Given the description of an element on the screen output the (x, y) to click on. 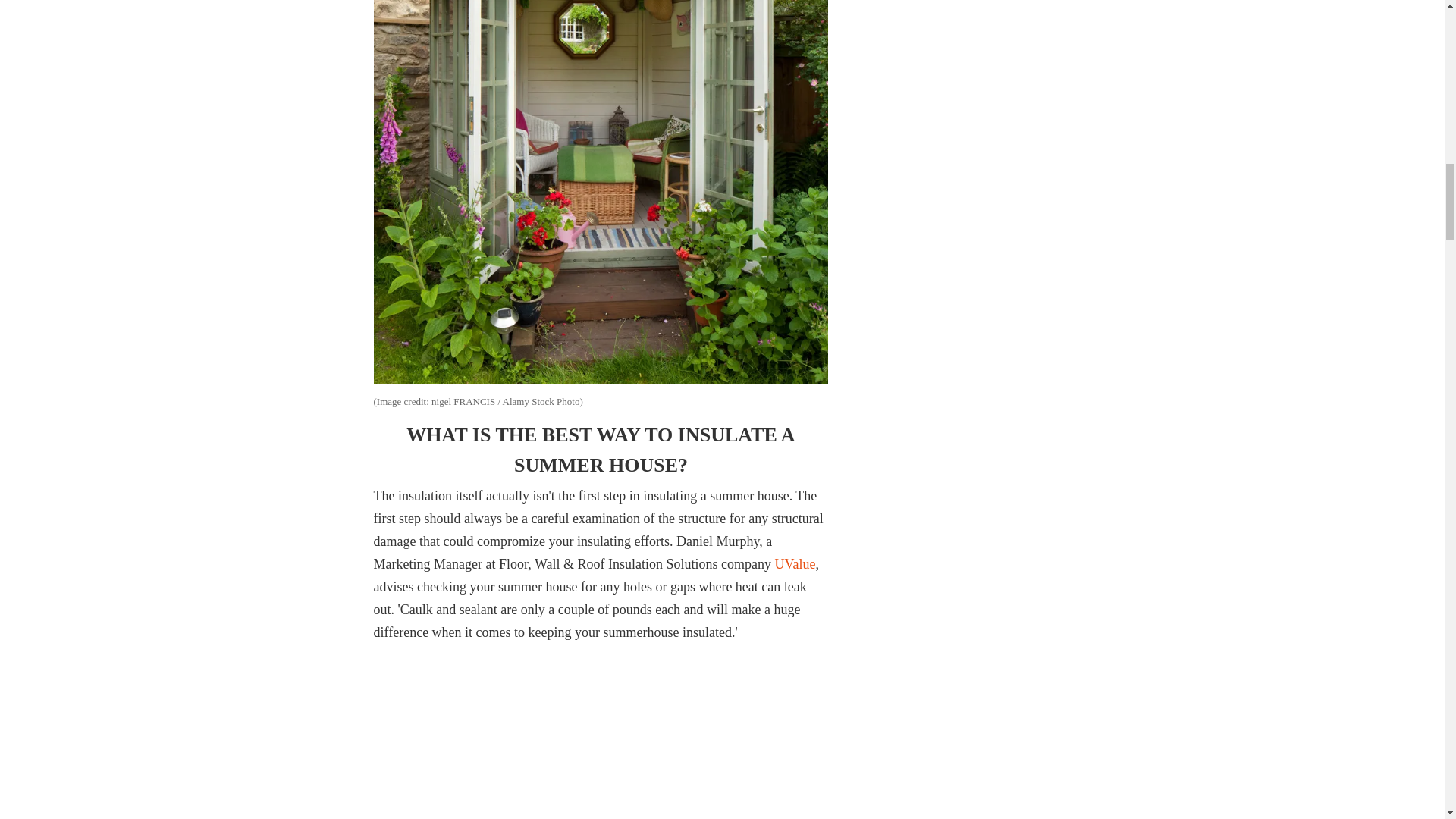
UValue (794, 563)
